Given the description of an element on the screen output the (x, y) to click on. 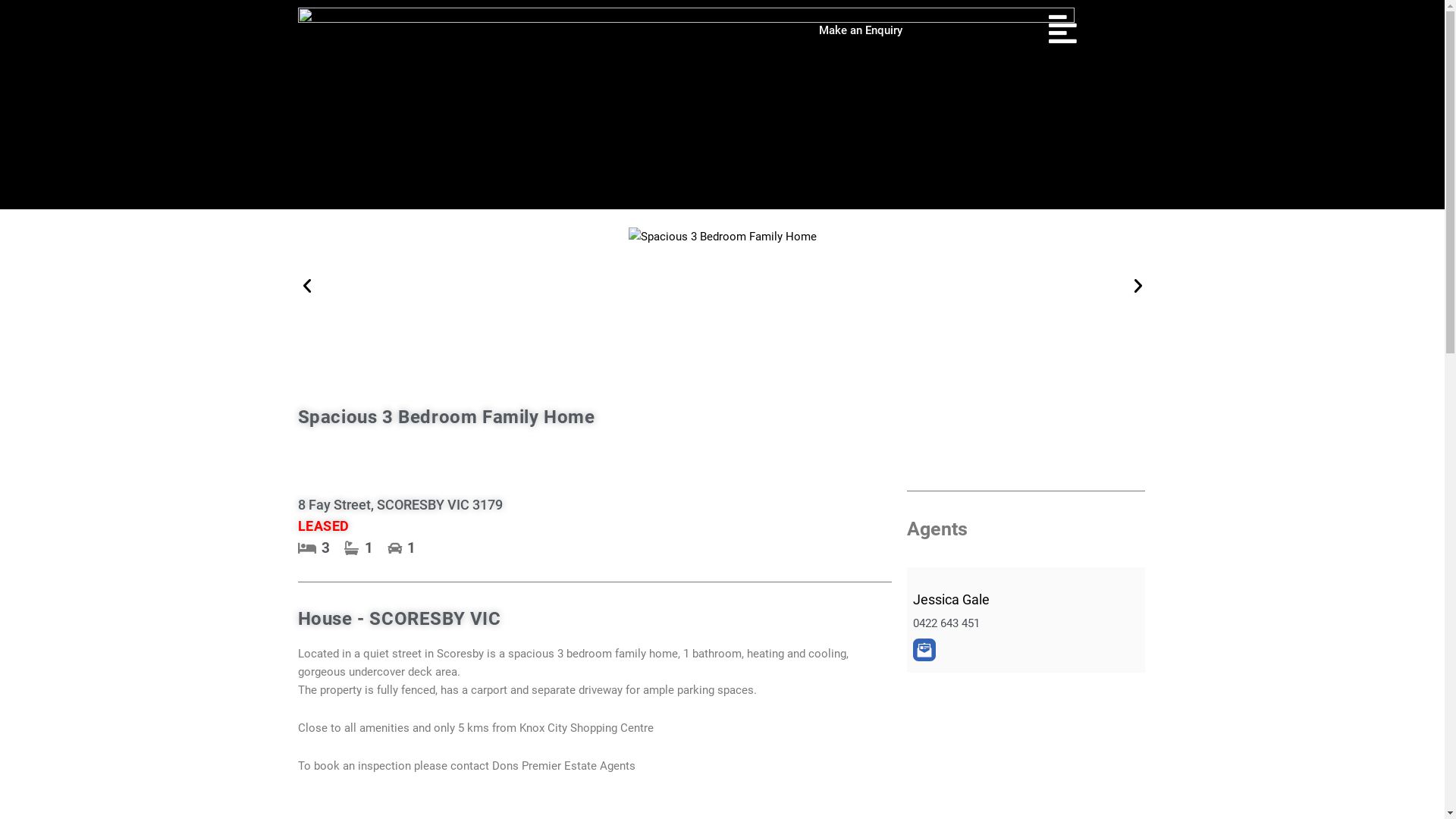
Contact Jessica Gale by Email Element type: hover (924, 649)
Jessica Gale Element type: text (951, 599)
Make an Enquiry Element type: text (860, 30)
